Given the description of an element on the screen output the (x, y) to click on. 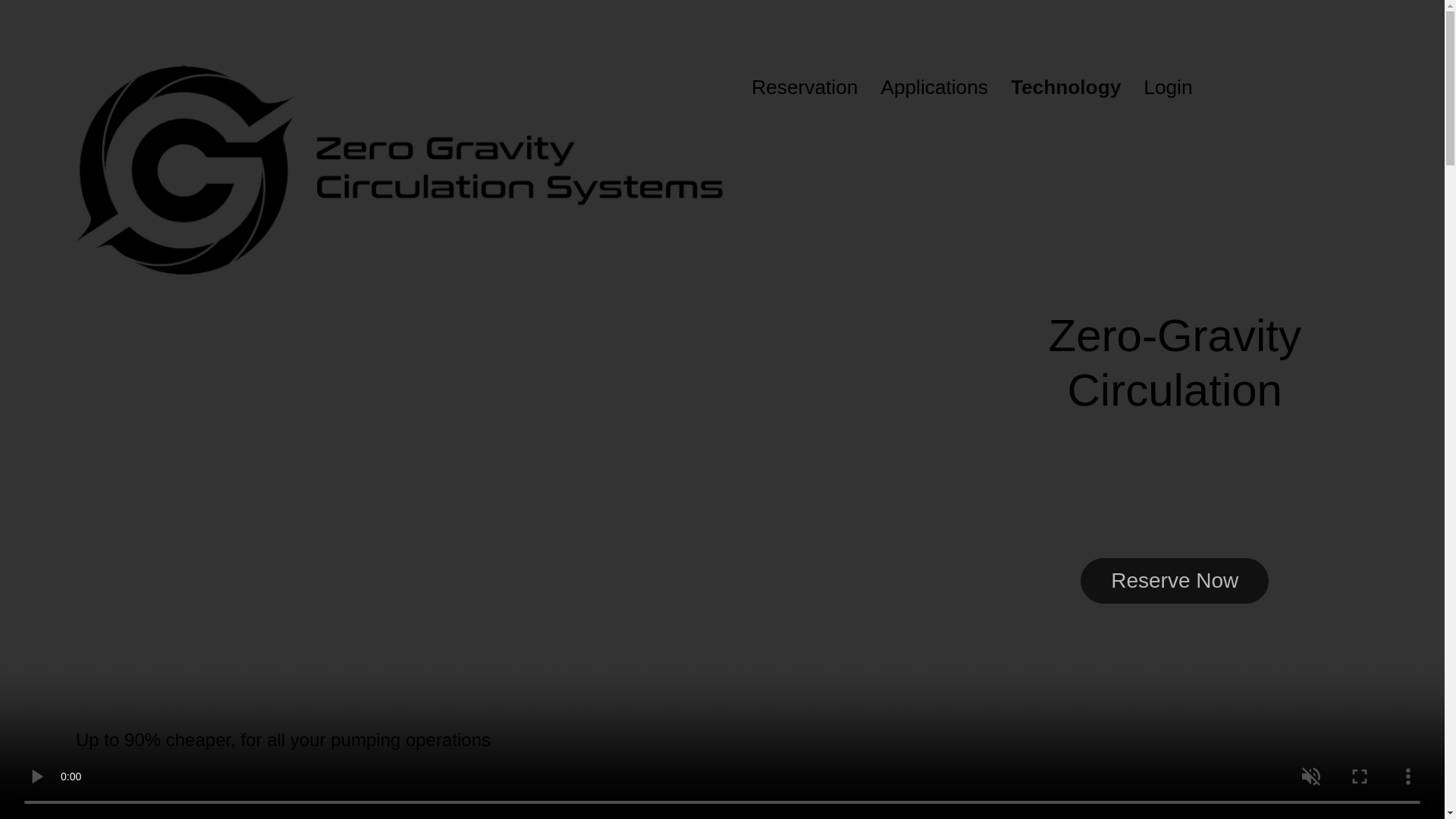
Reservation (804, 87)
Reserve Now (1174, 580)
Technology (1065, 87)
Applications (933, 87)
Login (1168, 87)
